Given the description of an element on the screen output the (x, y) to click on. 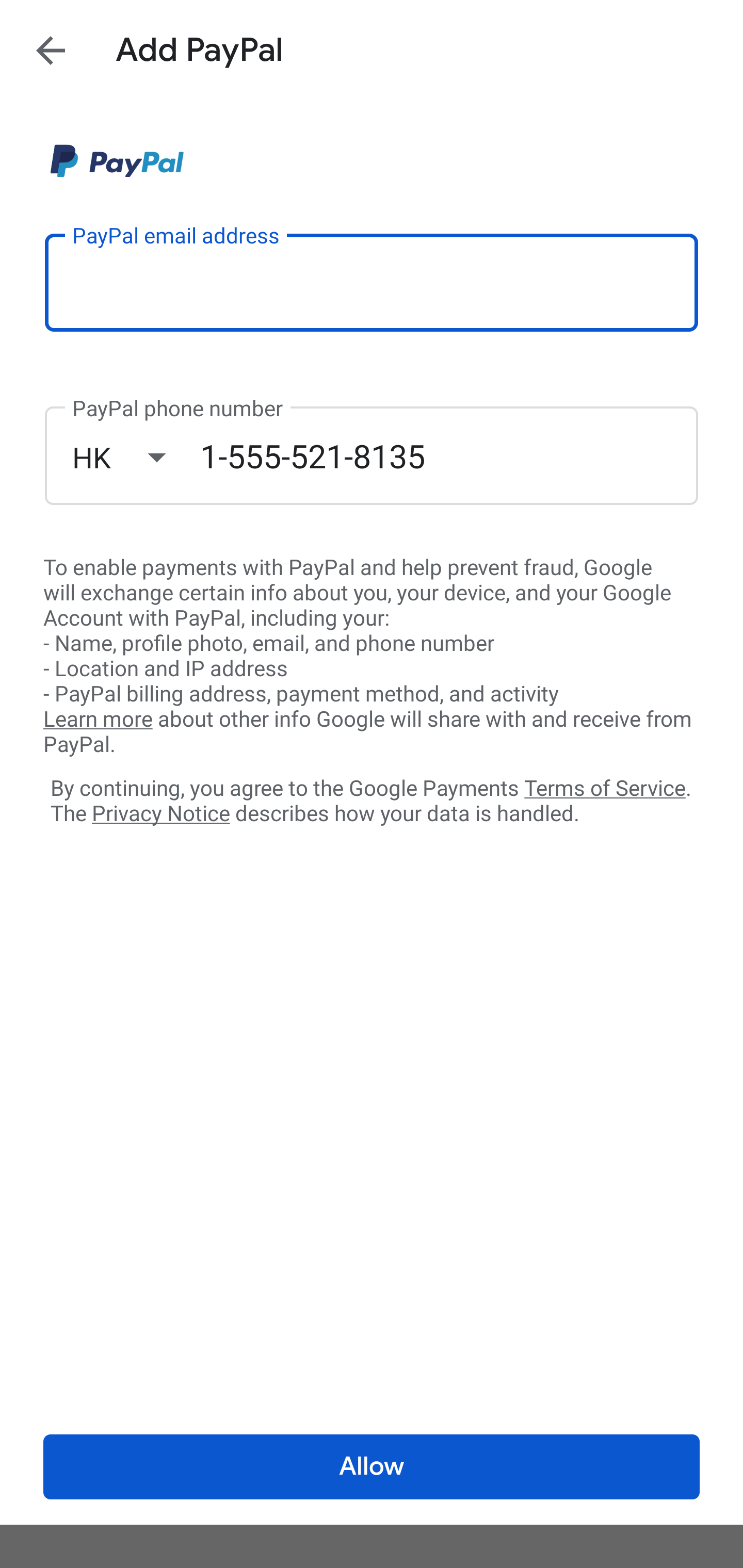
Navigate up (50, 50)
PayPal email address (371, 282)
HK (135, 456)
Learn more (97, 719)
Terms of Service (604, 787)
Privacy Notice (160, 814)
Allow (371, 1466)
